Given the description of an element on the screen output the (x, y) to click on. 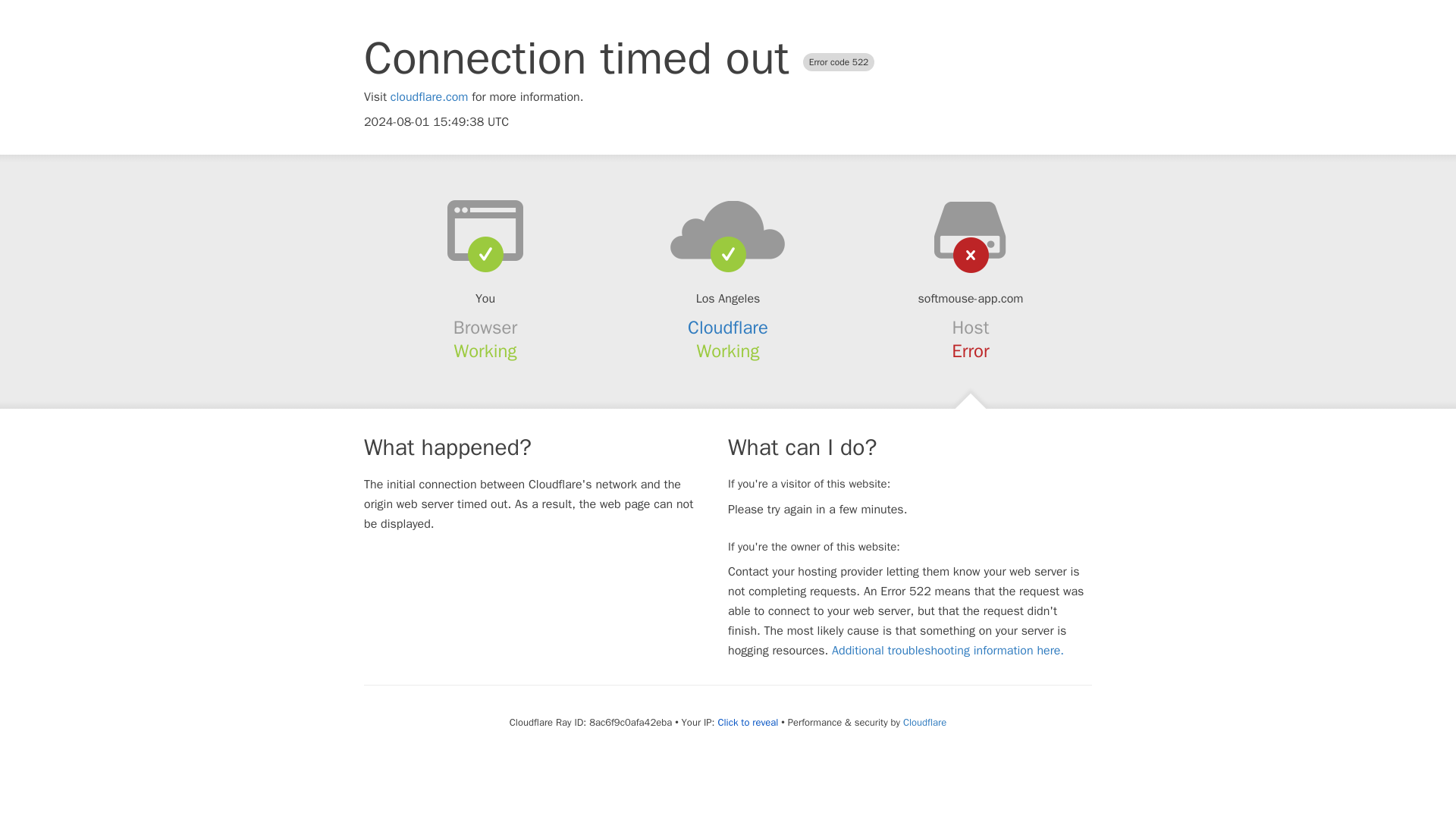
Additional troubleshooting information here. (947, 650)
Cloudflare (727, 327)
Click to reveal (747, 722)
cloudflare.com (429, 96)
Cloudflare (924, 721)
